Given the description of an element on the screen output the (x, y) to click on. 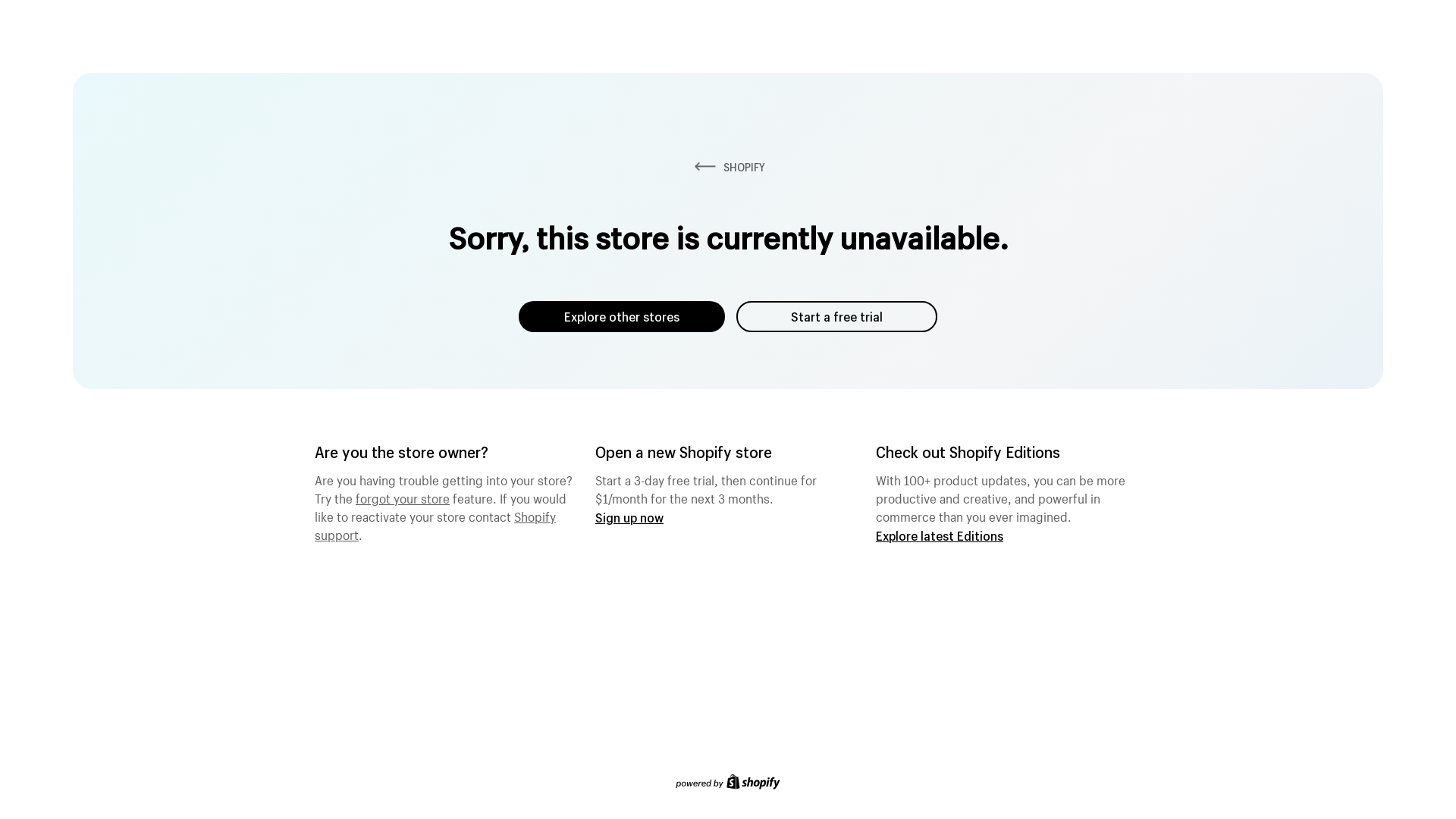
Explore latest Editions Element type: text (939, 535)
Shopify support Element type: text (434, 523)
Start a free trial Element type: text (836, 316)
forgot your store Element type: text (402, 496)
Sign up now Element type: text (629, 517)
SHOPIFY Element type: text (727, 167)
Explore other stores Element type: text (621, 316)
